Given the description of an element on the screen output the (x, y) to click on. 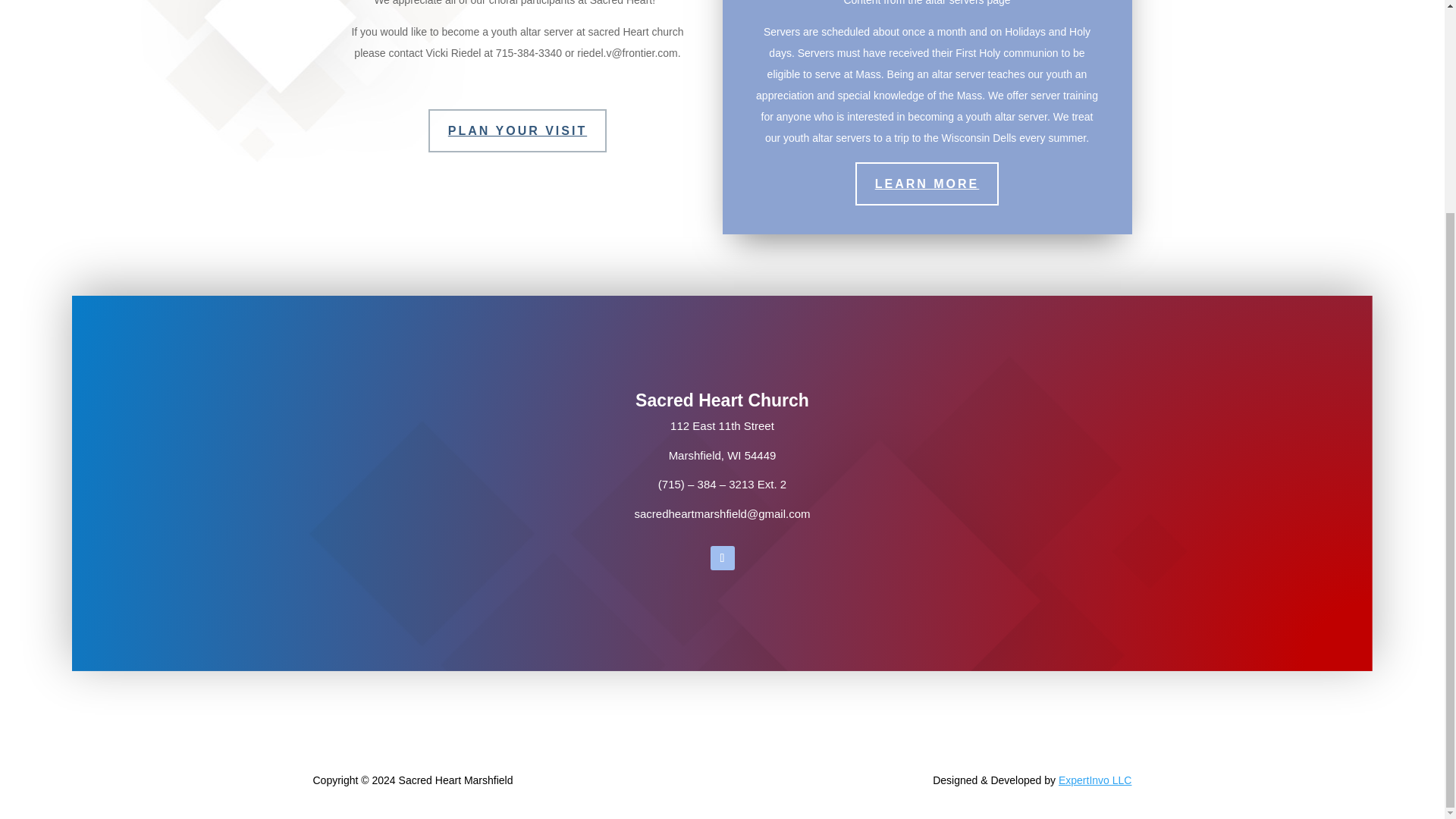
LEARN MORE (927, 183)
expertinvo.com (1095, 779)
Follow on Facebook (721, 558)
ExpertInvo LLC (1095, 779)
PLAN YOUR VISIT (517, 130)
